Given the description of an element on the screen output the (x, y) to click on. 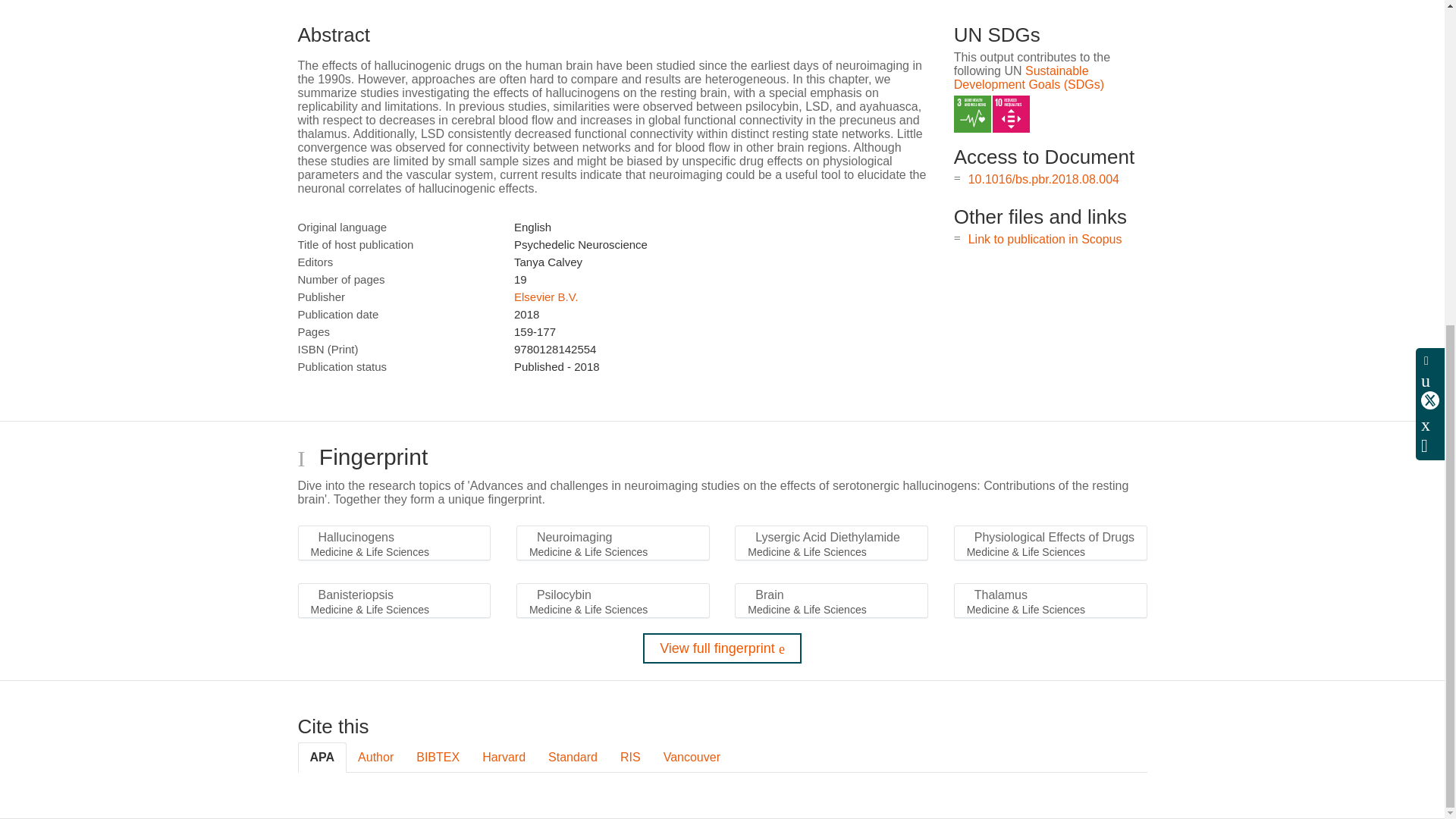
Link to publication in Scopus (1045, 238)
SDG 10 - Reduced Inequalities (1010, 113)
Elsevier B.V. (545, 296)
SDG 3 - Good Health and Well-being (972, 113)
View full fingerprint (722, 648)
